Given the description of an element on the screen output the (x, y) to click on. 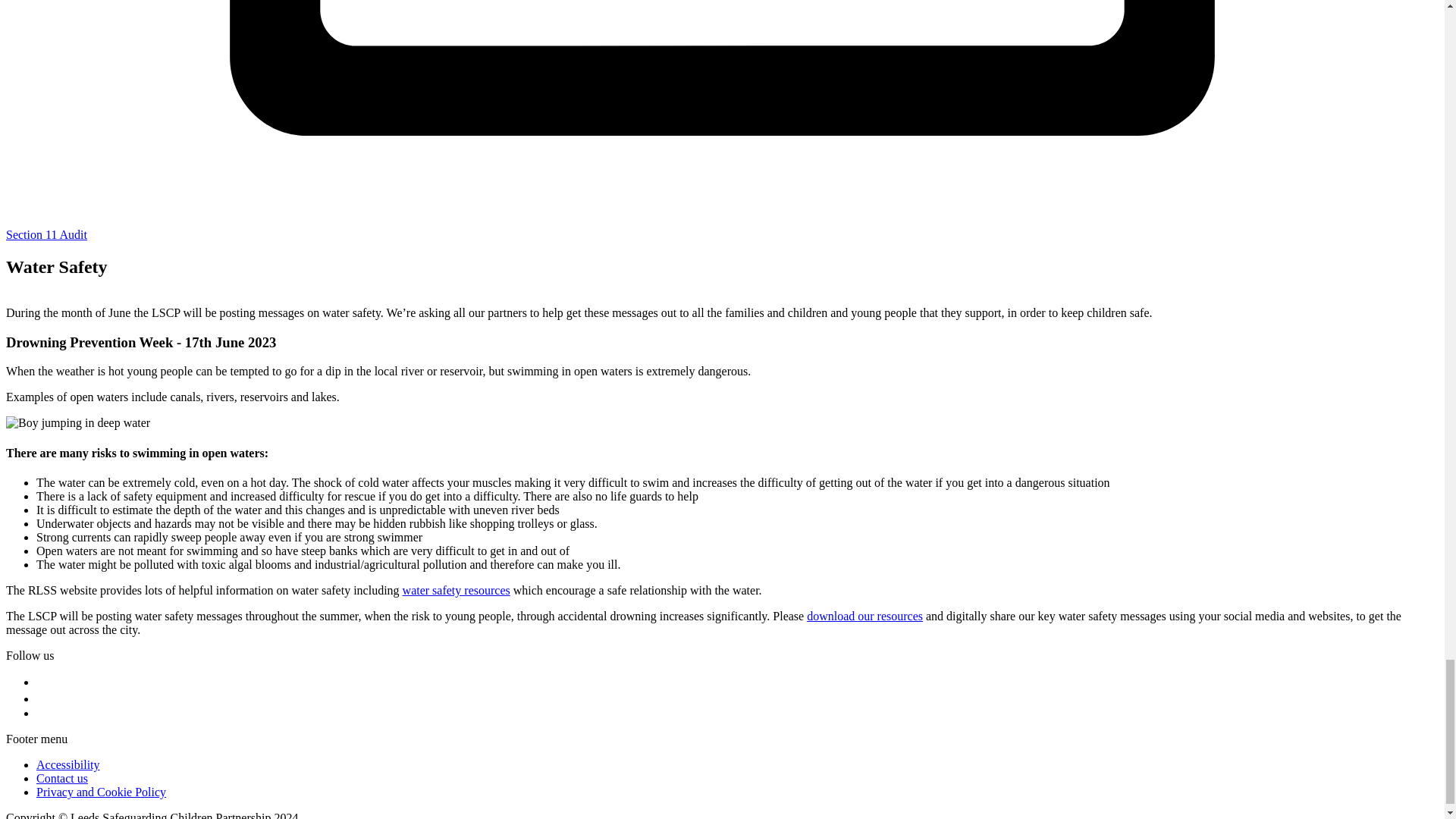
Privacy and Cookie Policy (100, 791)
water safety resources (457, 590)
twitter (42, 681)
Contact us (61, 778)
youtube (44, 712)
download our resources (864, 615)
Accessibility (68, 764)
